Given the description of an element on the screen output the (x, y) to click on. 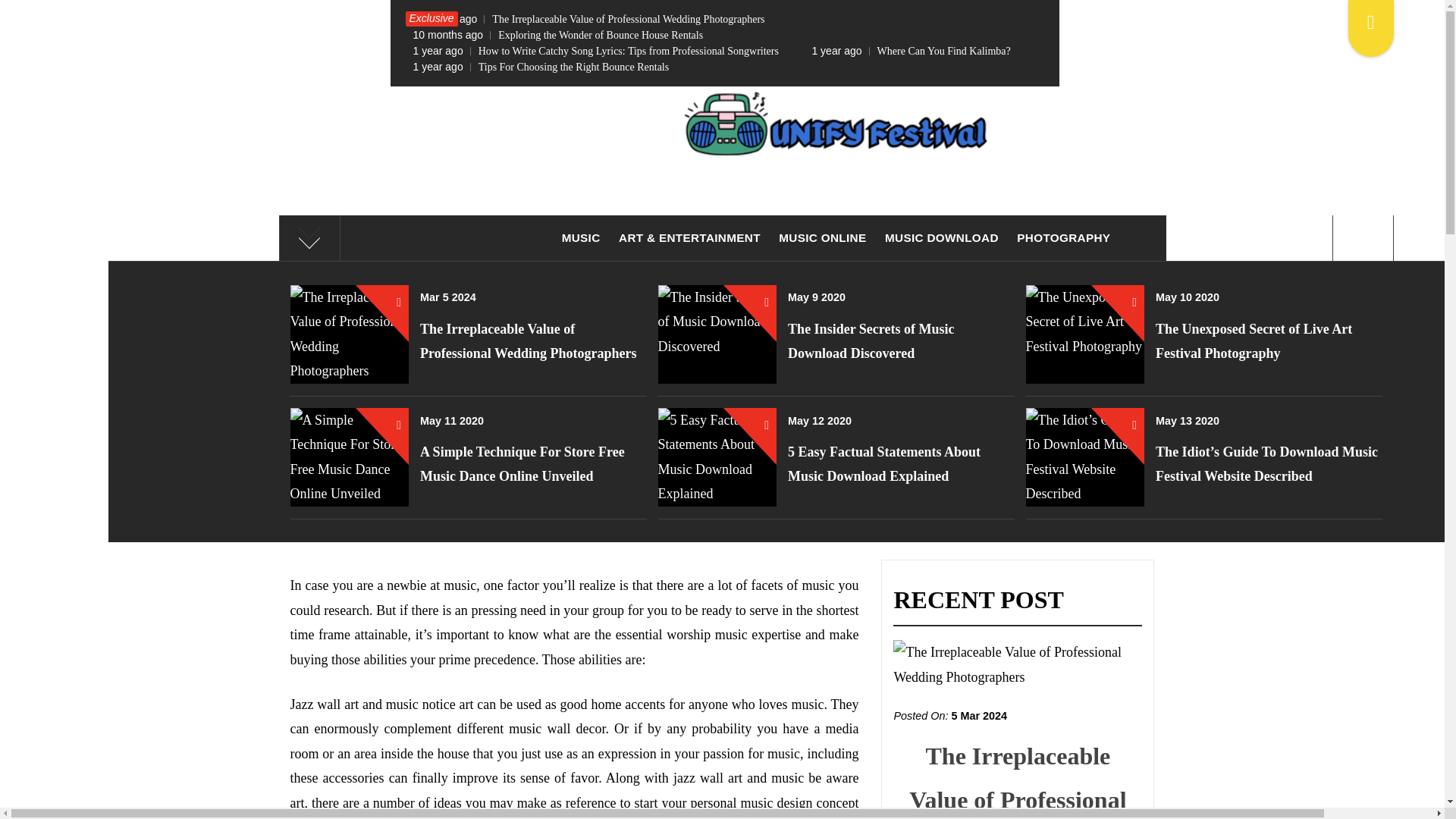
MUSIC (581, 238)
The Unexposed Secret of Live Art Festival Photography (1254, 341)
1 year agoTips For Choosing the Right Bounce Rentals (540, 66)
The Insider Secrets of Music Download Discovered (870, 341)
10 months agoExploring the Wonder of Bounce House Rentals (558, 35)
PHOTOGRAPHY (1063, 238)
UNIFY FESTIVAL (721, 234)
1 year agoWhere Can You Find Kalimba? (910, 50)
MUSIC DOWNLOAD (941, 238)
